Given the description of an element on the screen output the (x, y) to click on. 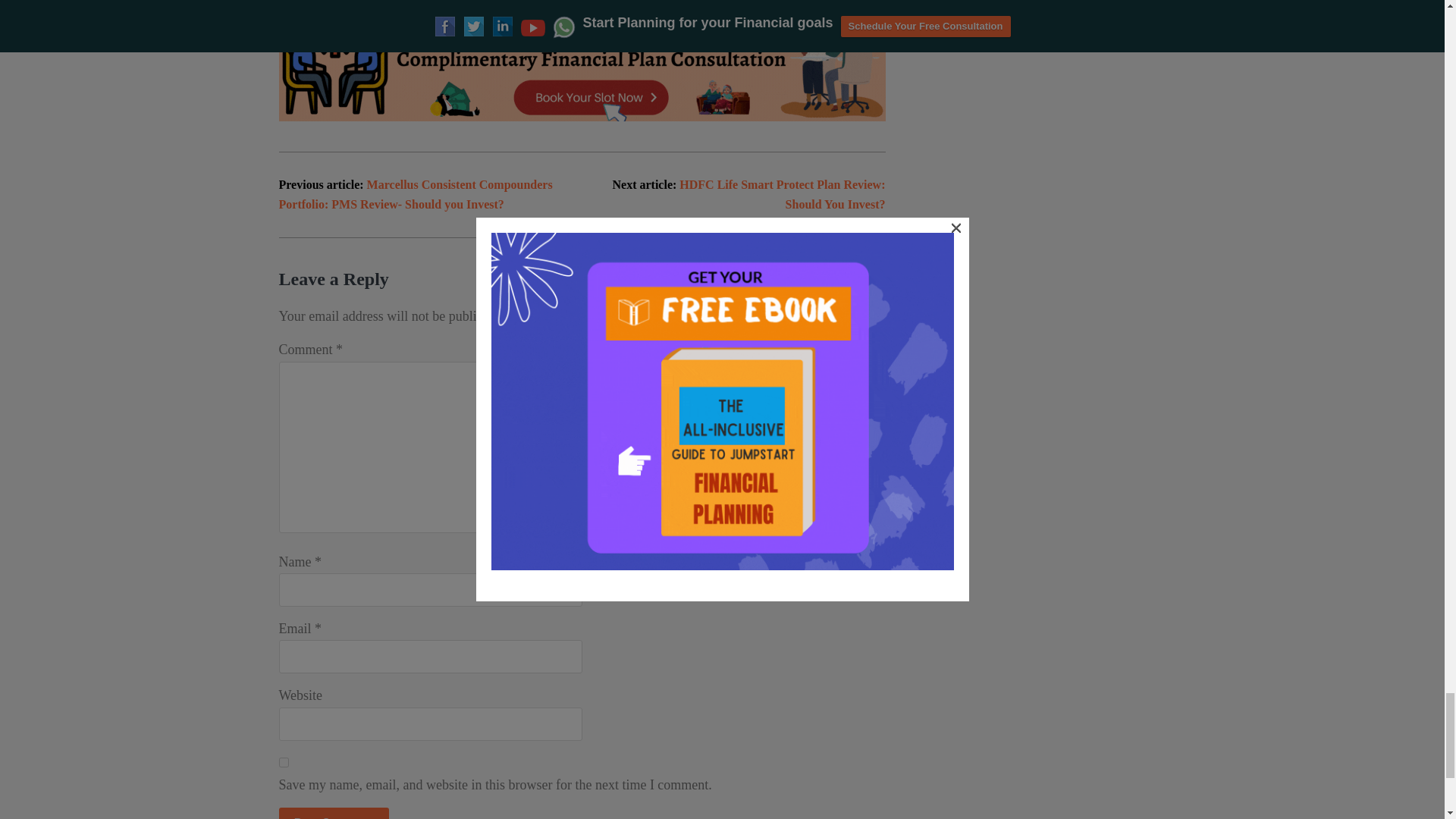
yes (283, 762)
Post Comment (334, 813)
